Given the description of an element on the screen output the (x, y) to click on. 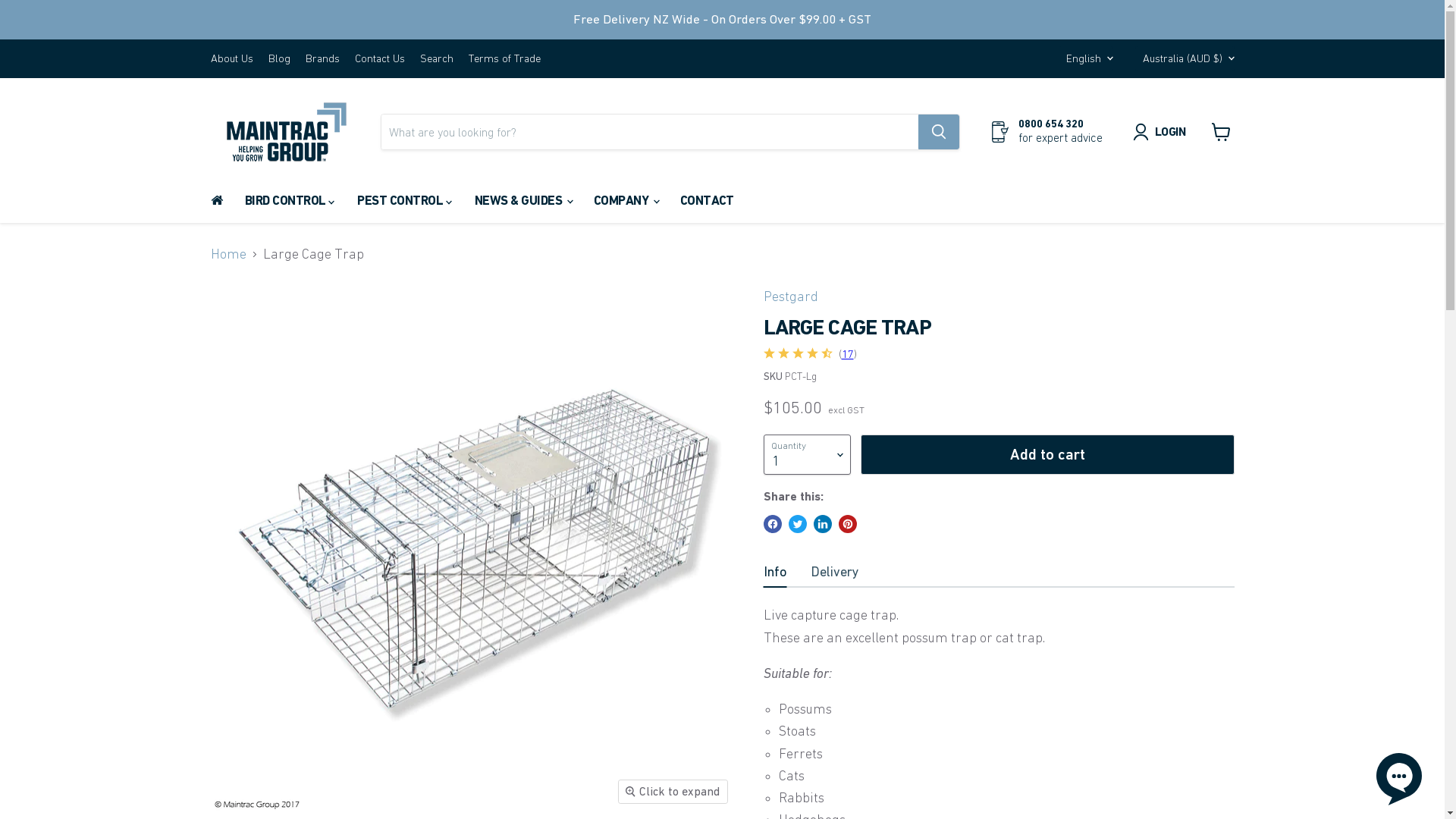
17
total reviews Element type: text (847, 353)
Terms of Trade Element type: text (504, 58)
Search Element type: text (436, 58)
Home Element type: text (228, 254)
CONTACT Element type: text (706, 199)
Brands Element type: text (321, 58)
Add to cart Element type: text (1047, 454)
Tweet on Twitter Element type: text (797, 523)
View cart Element type: text (1221, 131)
Blog Element type: text (279, 58)
Contact Us Element type: text (379, 58)
Australia (AUD $) Element type: text (1183, 58)
About Us Element type: text (231, 58)
Click to expand Element type: text (672, 791)
English Element type: text (1085, 58)
Pestgard Element type: text (789, 296)
LOGIN Element type: text (1170, 131)
Share on Facebook Element type: text (771, 523)
Pin on Pinterest Element type: text (847, 523)
Share on LinkedIn Element type: text (821, 523)
0800 654 320
for expert advice Element type: text (1045, 131)
